Given the description of an element on the screen output the (x, y) to click on. 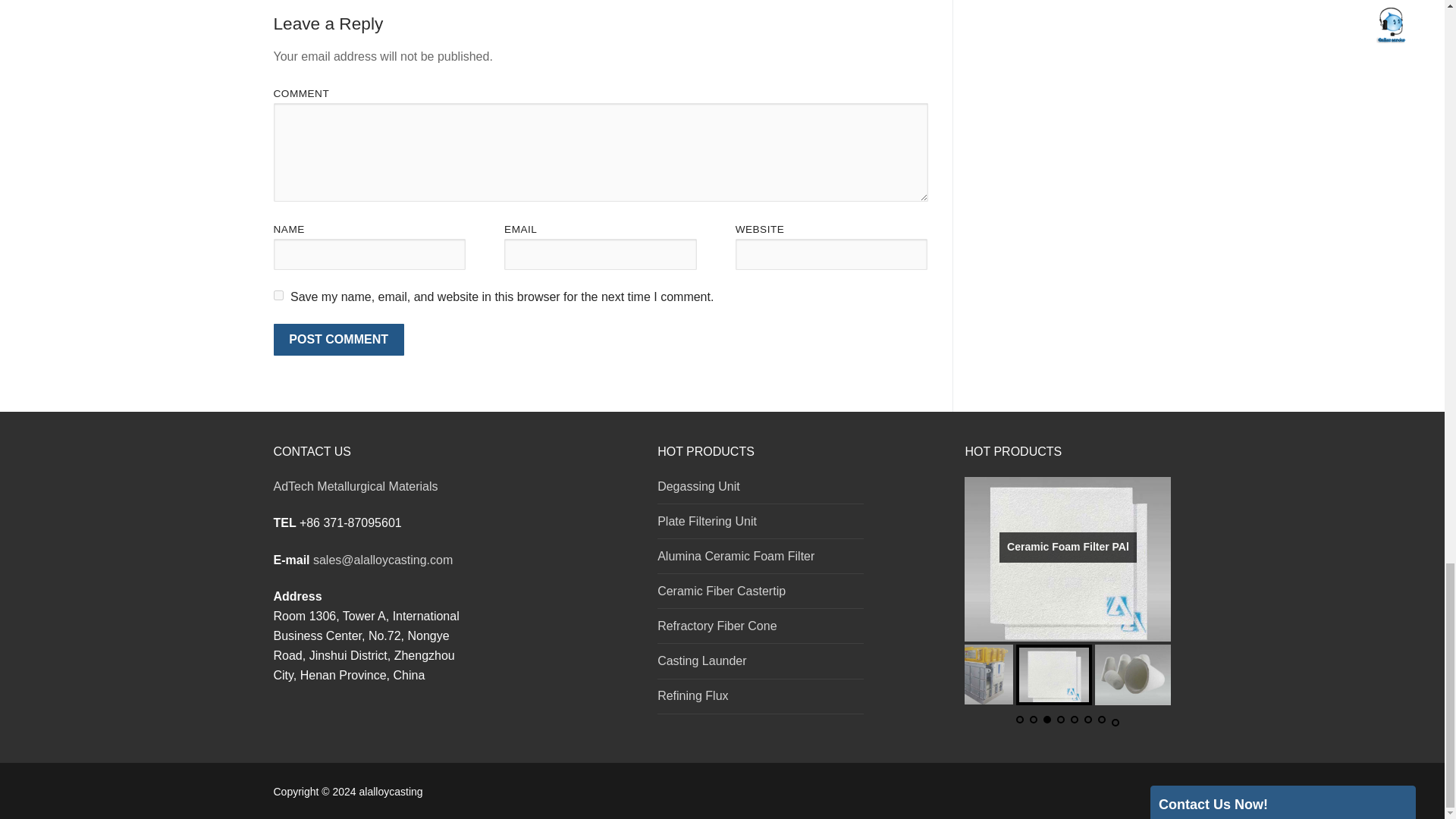
yes (277, 295)
Post Comment (338, 339)
